Given the description of an element on the screen output the (x, y) to click on. 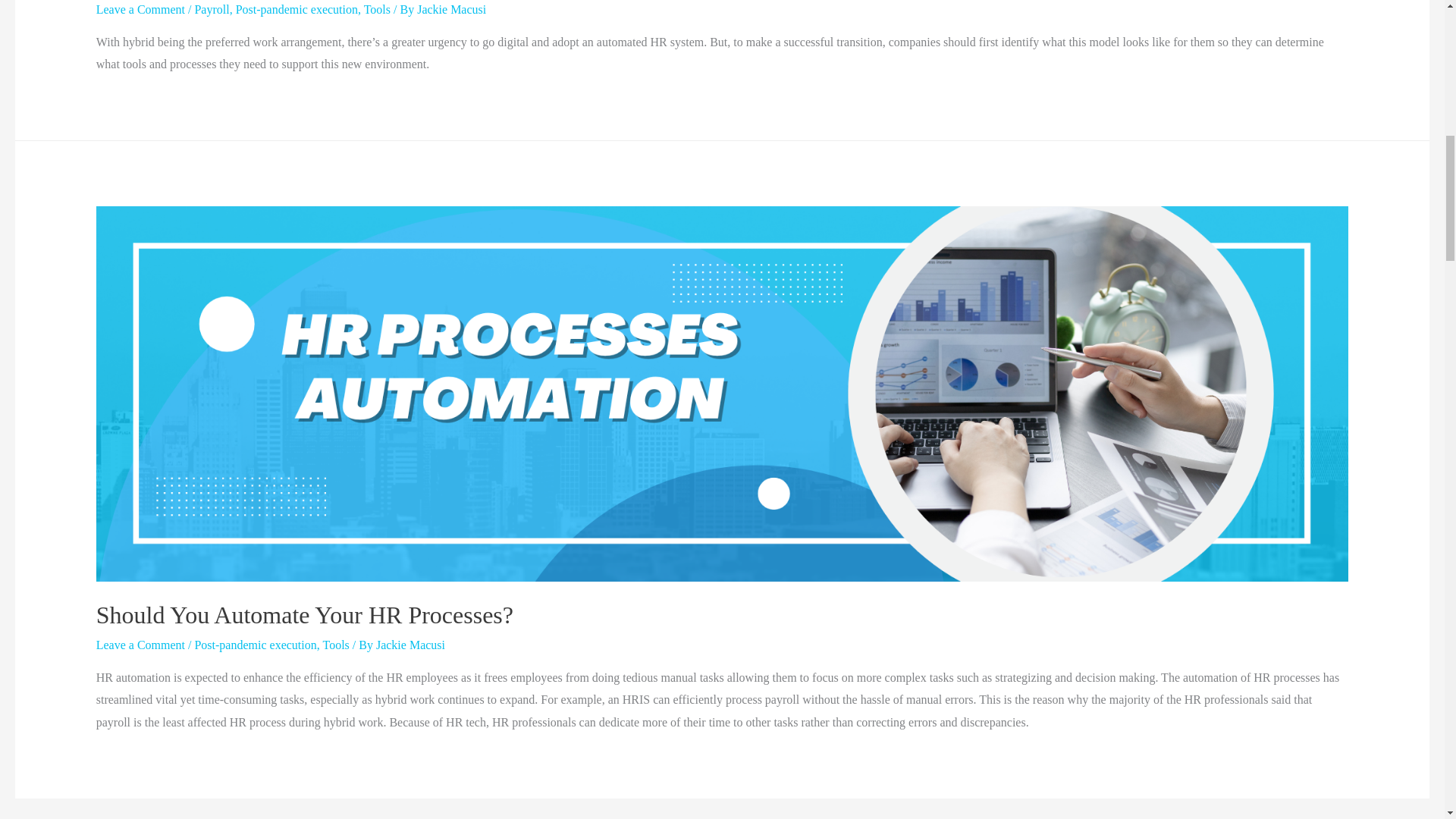
View all posts by Jackie Macusi (451, 9)
Jackie Macusi (451, 9)
Leave a Comment (140, 644)
Post-pandemic execution (254, 644)
Payroll (210, 9)
View all posts by Jackie Macusi (410, 644)
Jackie Macusi (410, 644)
Tools (335, 644)
Post-pandemic execution (296, 9)
Leave a Comment (140, 9)
